Given the description of an element on the screen output the (x, y) to click on. 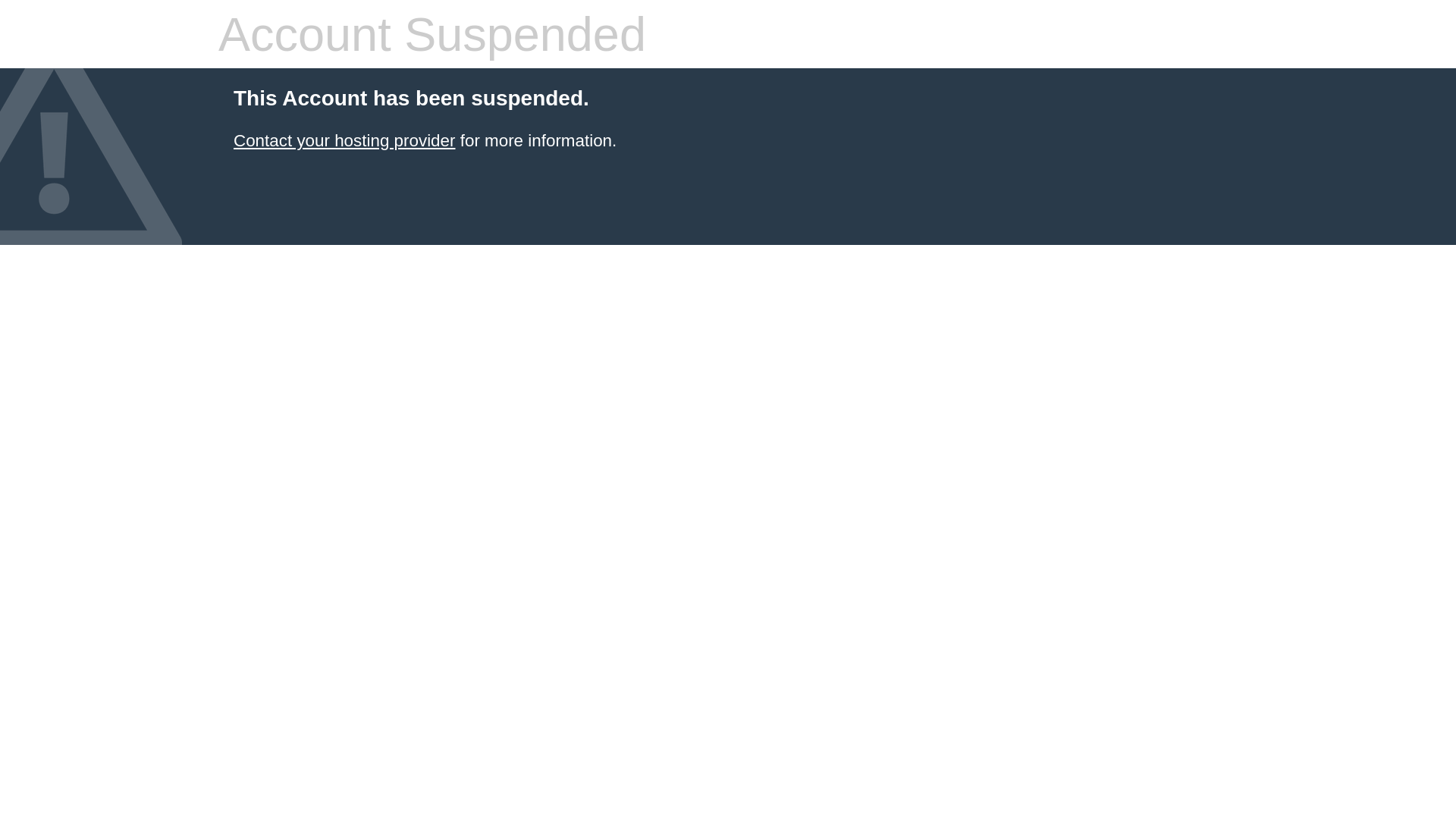
Contact your hosting provider Element type: text (344, 140)
